Given the description of an element on the screen output the (x, y) to click on. 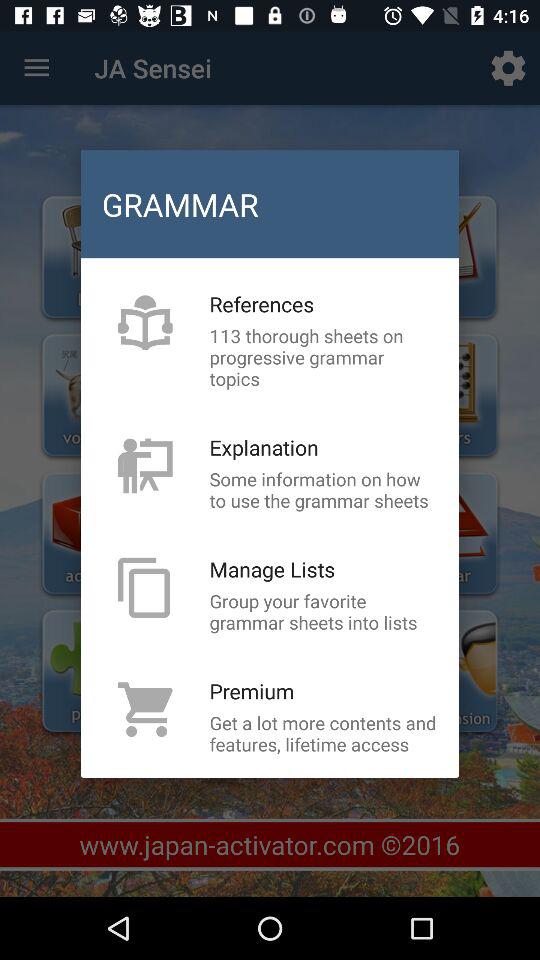
select 113 thorough sheets item (323, 357)
